Given the description of an element on the screen output the (x, y) to click on. 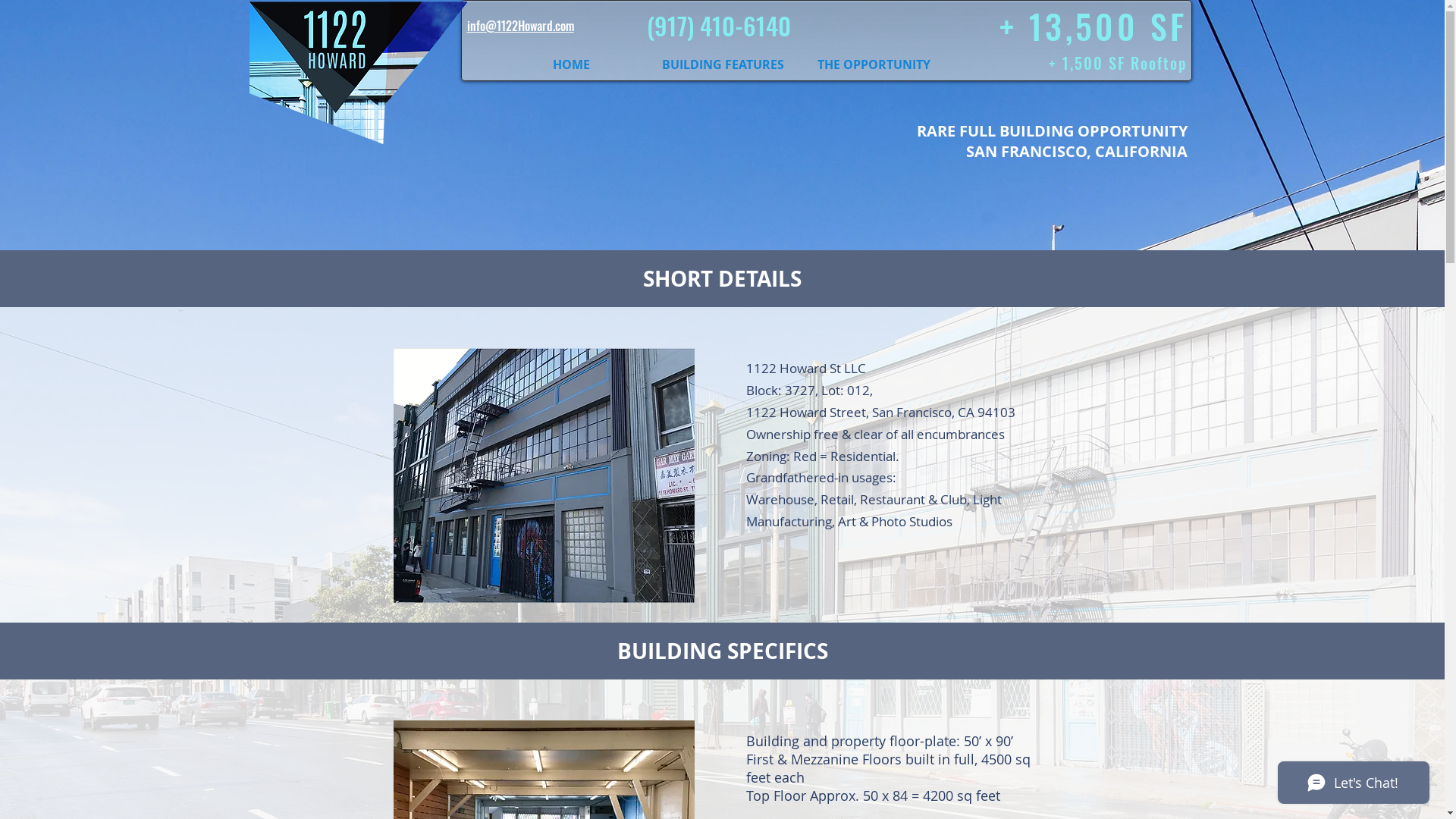
info@1122Howard.com Element type: text (520, 26)
THE OPPORTUNITY Element type: text (873, 64)
HOME Element type: text (570, 64)
BUILDING FEATURES Element type: text (722, 64)
